Given the description of an element on the screen output the (x, y) to click on. 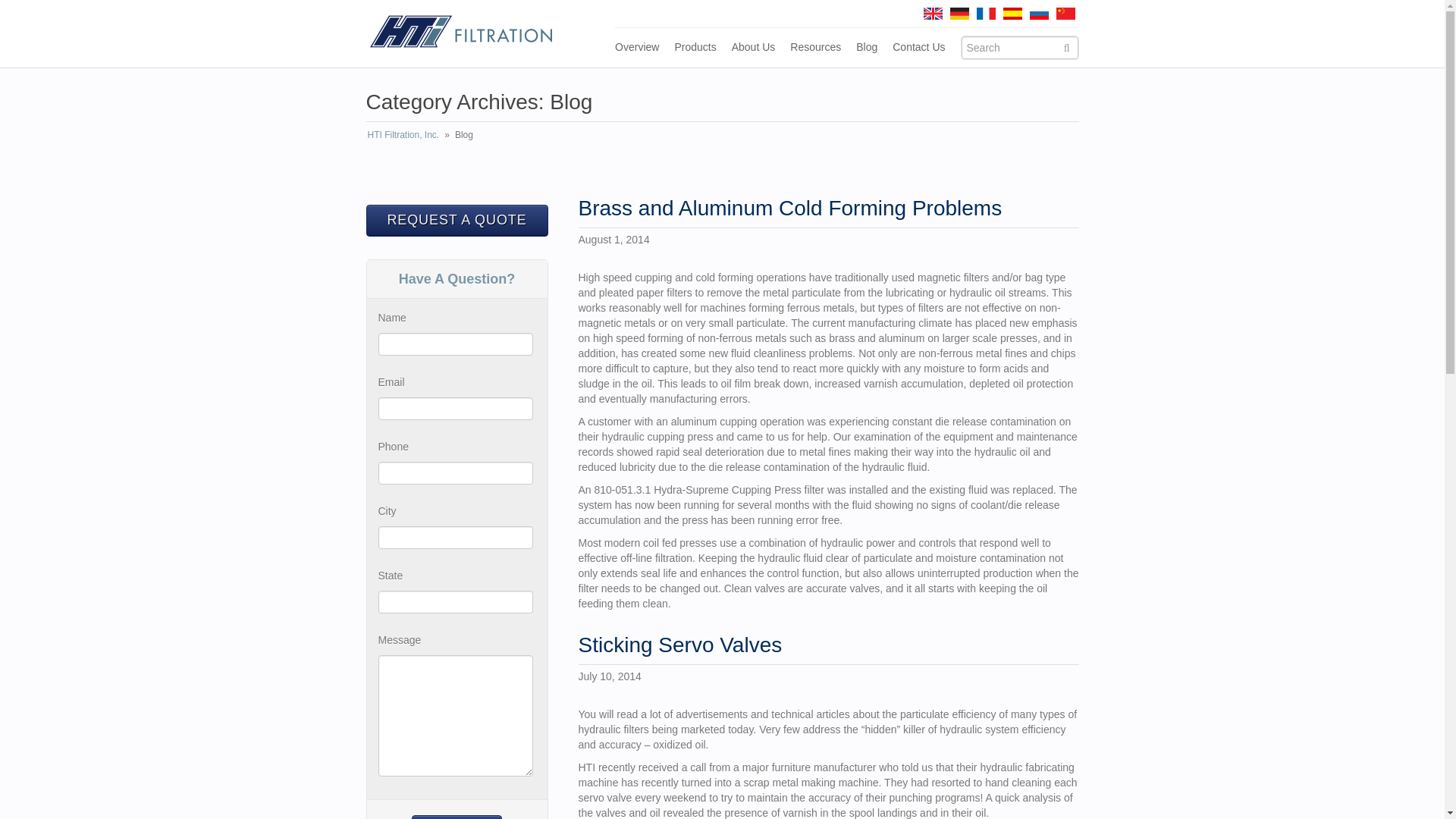
Send Message (457, 816)
Overview (636, 47)
Resources (815, 47)
Products (695, 47)
HTI Filtration, Inc. (402, 134)
Permalink to Sticking Servo Valves (679, 644)
Brass and Aluminum Cold Forming Problems (789, 208)
Blog (866, 47)
Go to HTI Filtration, Inc.. (402, 134)
Sticking Servo Valves (679, 644)
Permalink to Brass and Aluminum Cold Forming Problems (789, 208)
About Us (754, 47)
REQUEST A QUOTE (456, 220)
Contact Us (918, 47)
HTI Filtration, Inc. (459, 30)
